Given the description of an element on the screen output the (x, y) to click on. 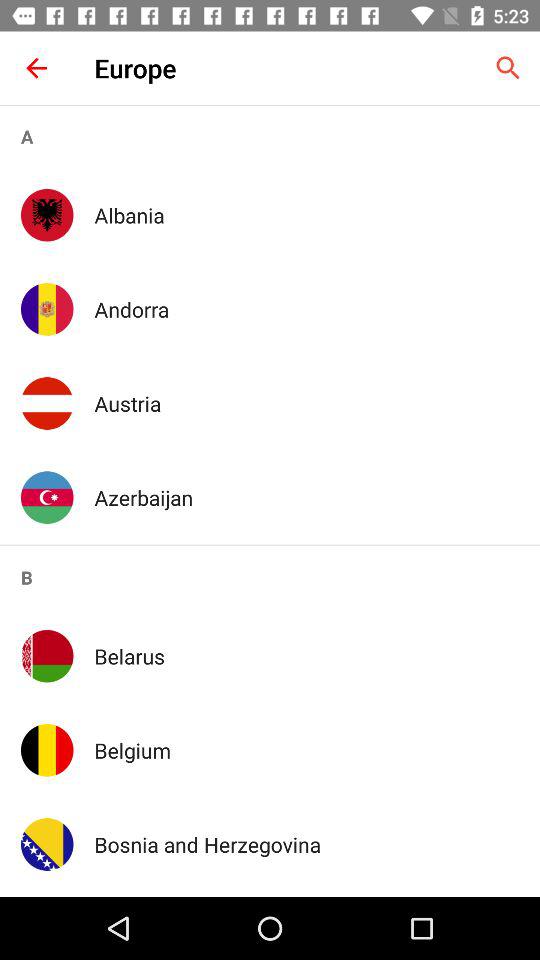
choose item next to europe item (36, 68)
